Given the description of an element on the screen output the (x, y) to click on. 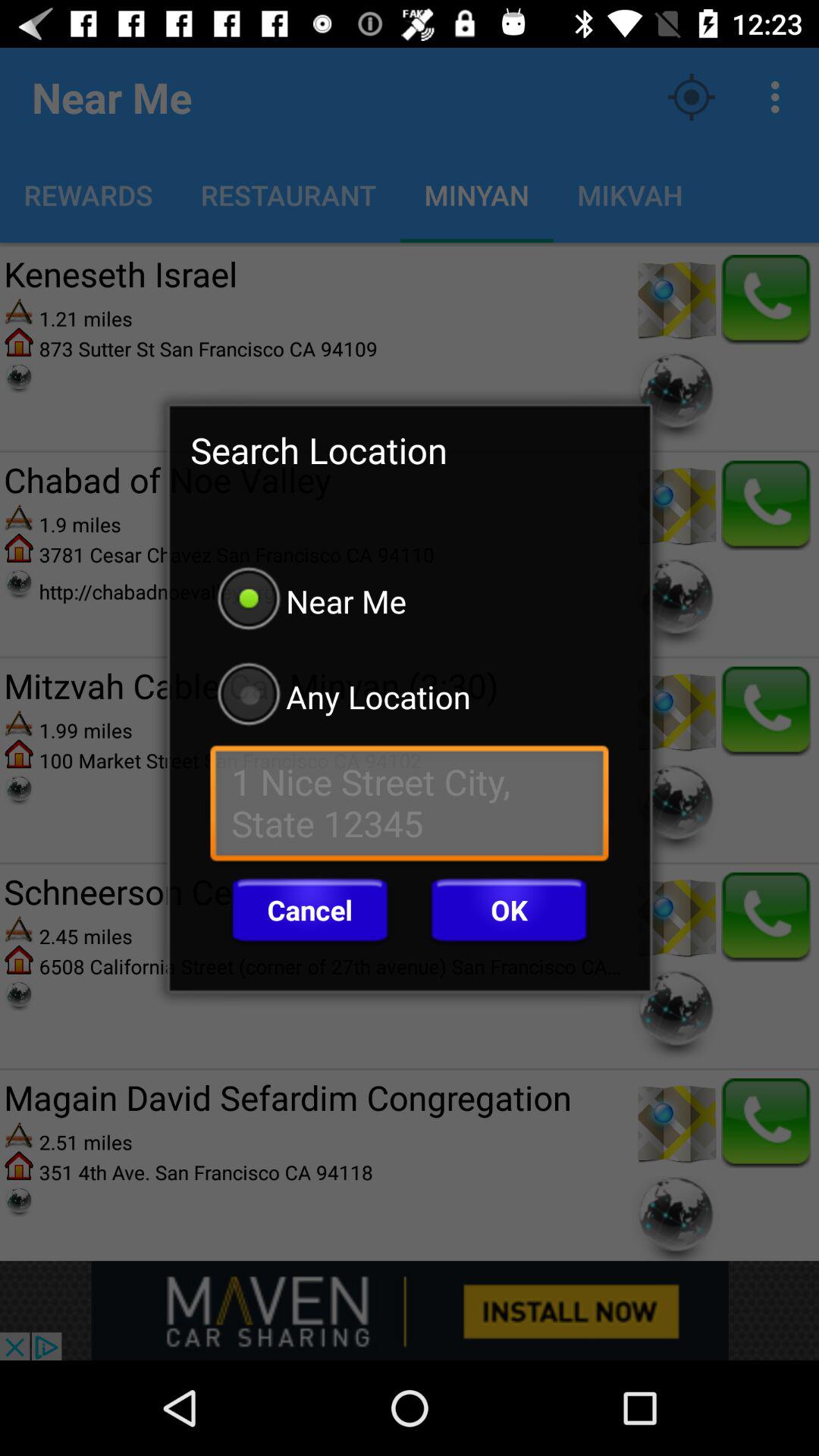
click the icon below the near me icon (409, 696)
